Given the description of an element on the screen output the (x, y) to click on. 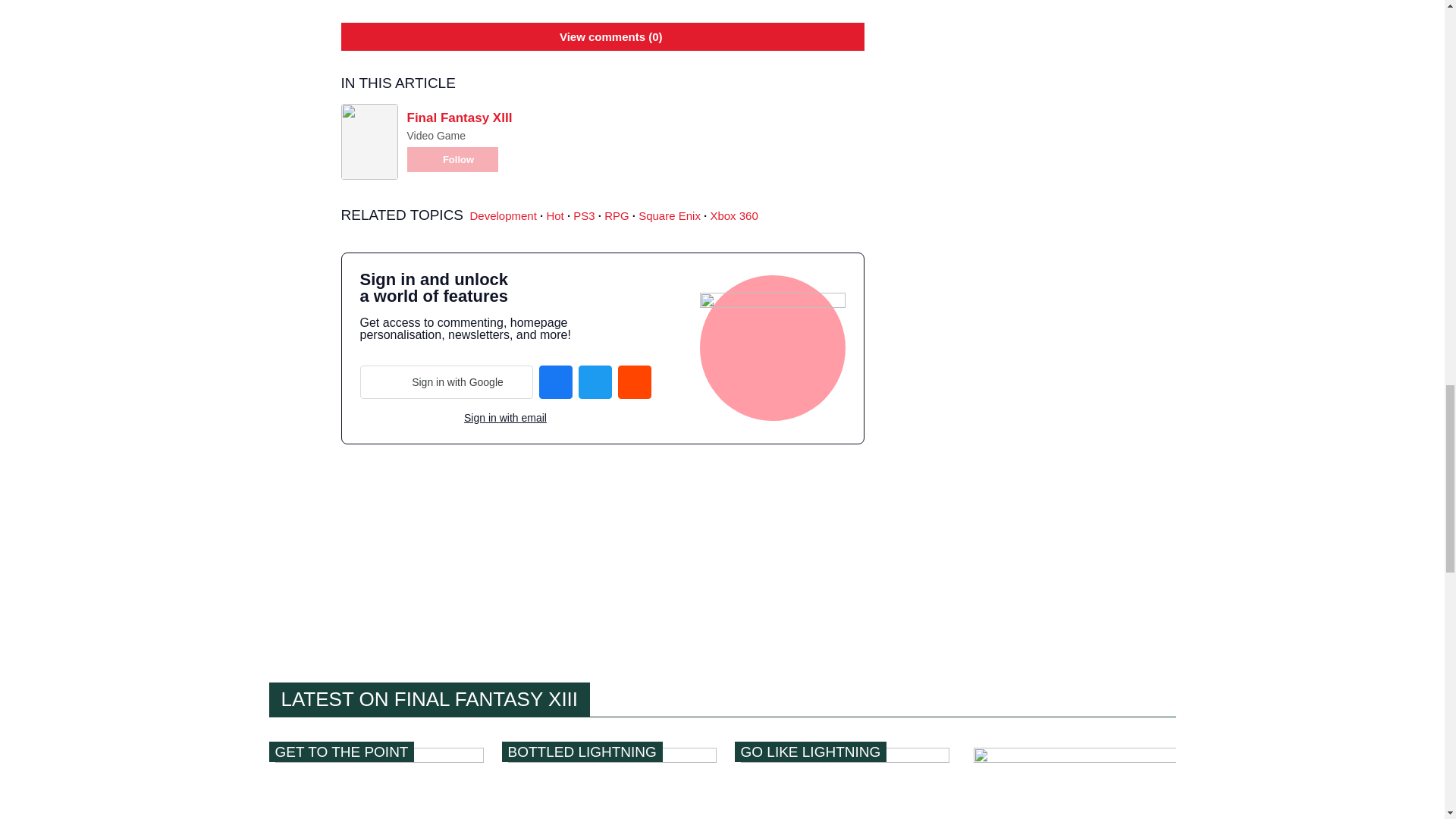
Final Fantasy XIII (459, 117)
Development (503, 215)
Hot (554, 215)
Follow (451, 159)
